Given the description of an element on the screen output the (x, y) to click on. 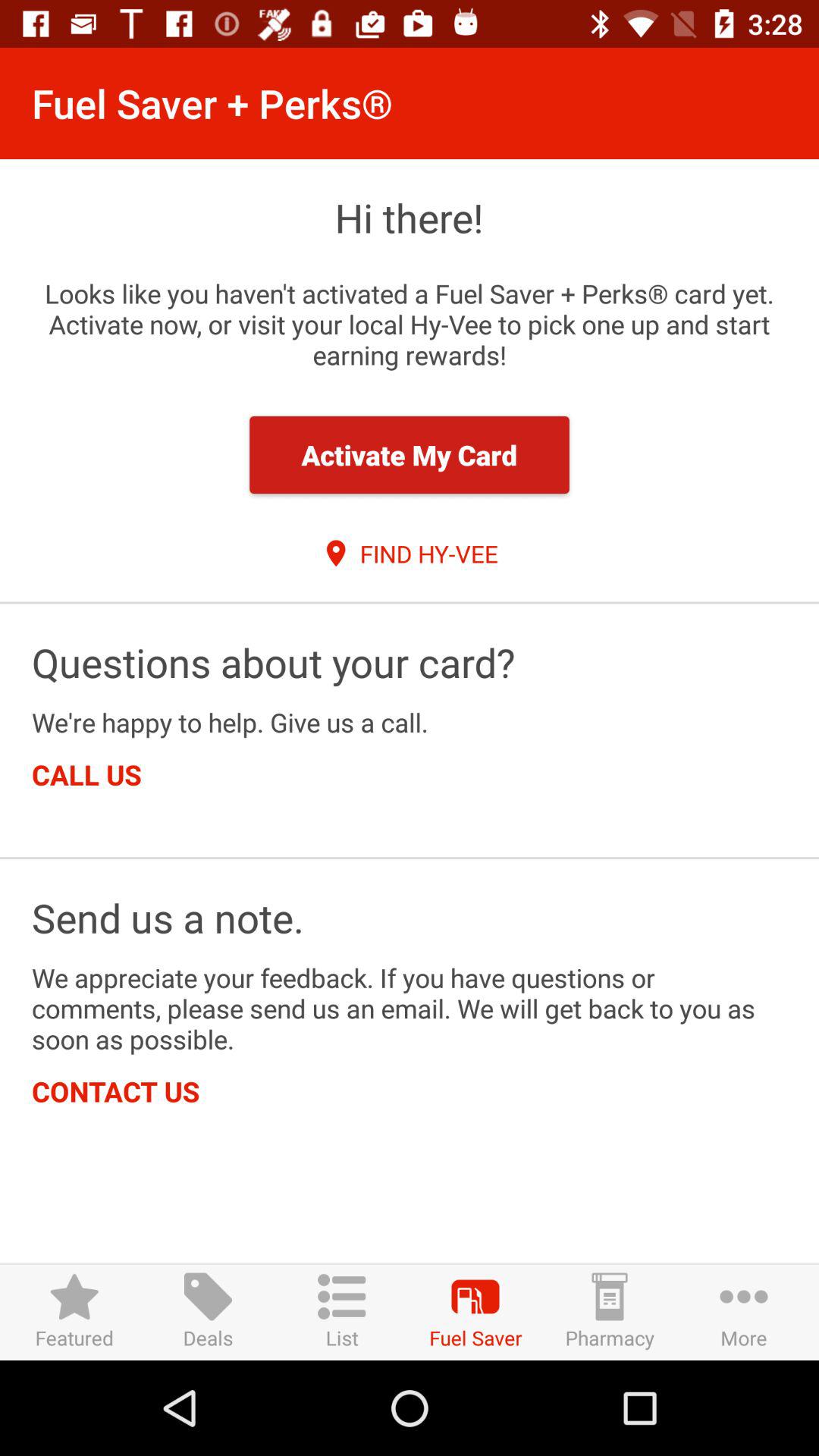
flip to contact us icon (115, 1091)
